Given the description of an element on the screen output the (x, y) to click on. 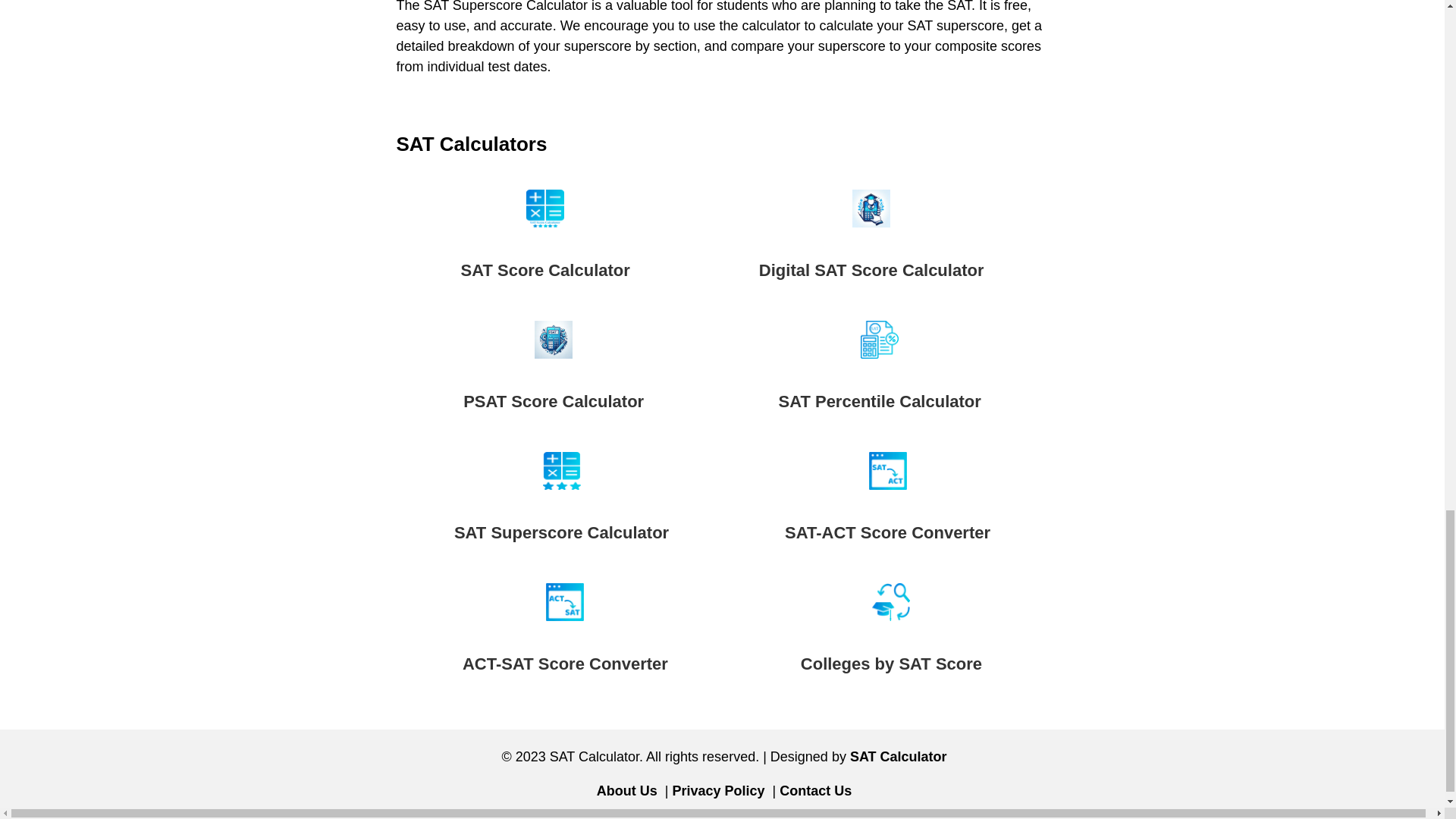
About Us (627, 790)
Privacy Policy (717, 790)
SAT Superscore Calculator (561, 502)
SAT Calculator (898, 756)
SAT Percentile Calculator (878, 371)
Digital SAT Score Calculator (871, 239)
Contact Us (814, 790)
Colleges by SAT Score (890, 633)
SAT Score Calculator (545, 239)
SAT-ACT Score Converter (887, 502)
